Given the description of an element on the screen output the (x, y) to click on. 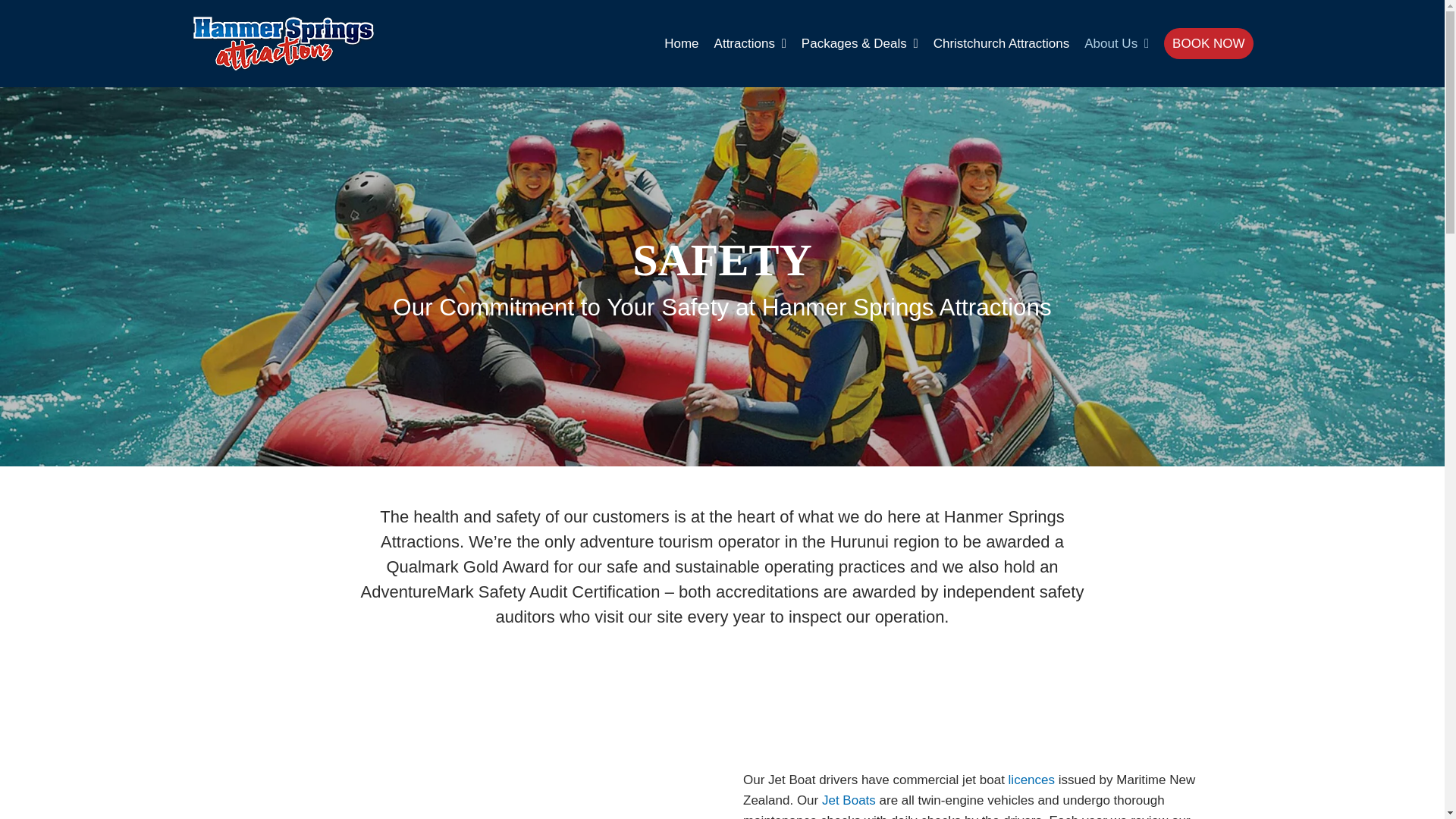
Attractions (750, 43)
Home (680, 43)
licences (1031, 780)
Christchurch Attractions (1001, 43)
Jet Boats (849, 800)
BOOK NOW (1207, 43)
About Us (1116, 43)
